Given the description of an element on the screen output the (x, y) to click on. 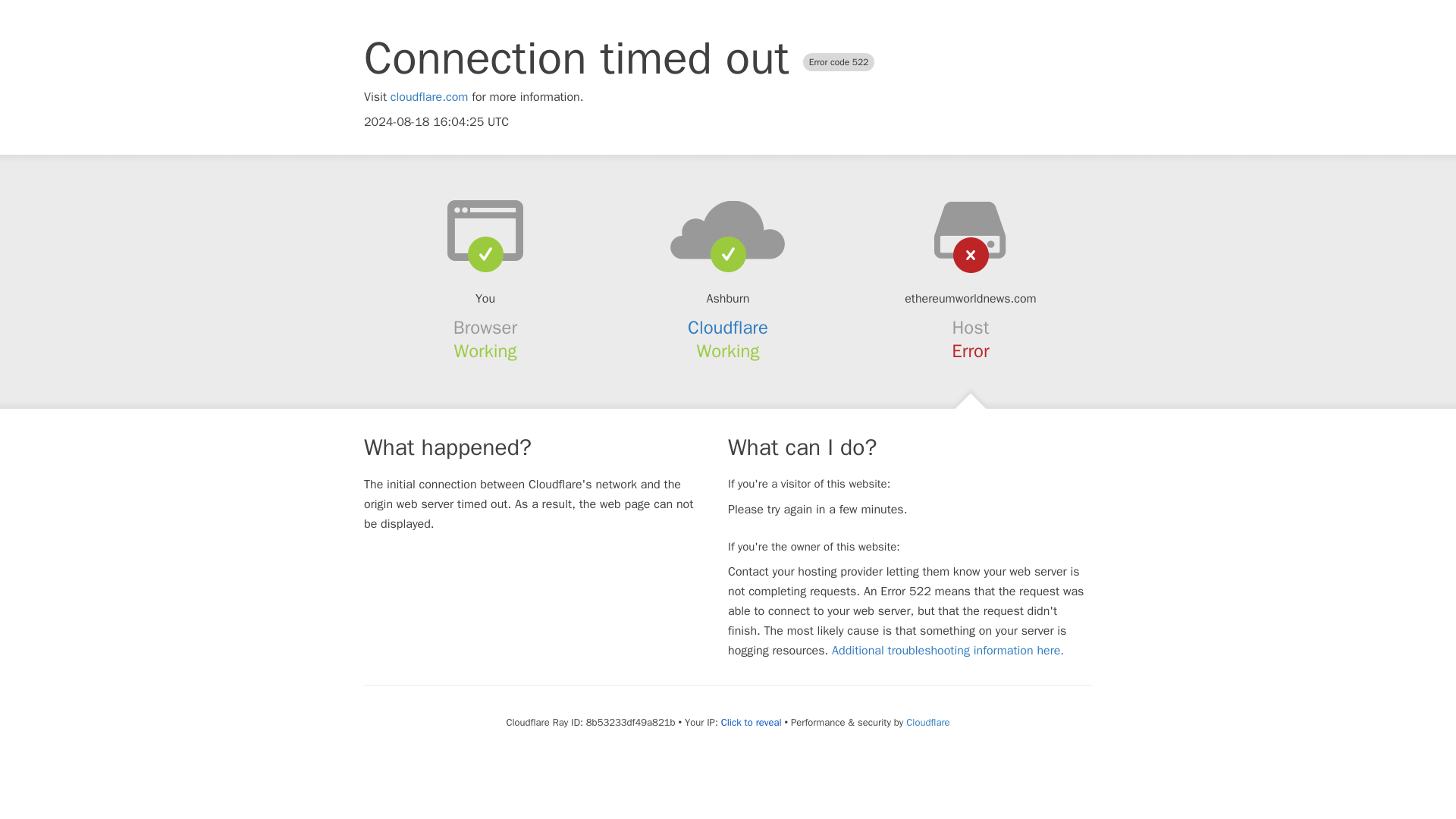
Click to reveal (750, 722)
Cloudflare (927, 721)
cloudflare.com (429, 96)
Cloudflare (727, 327)
Additional troubleshooting information here. (947, 650)
